Given the description of an element on the screen output the (x, y) to click on. 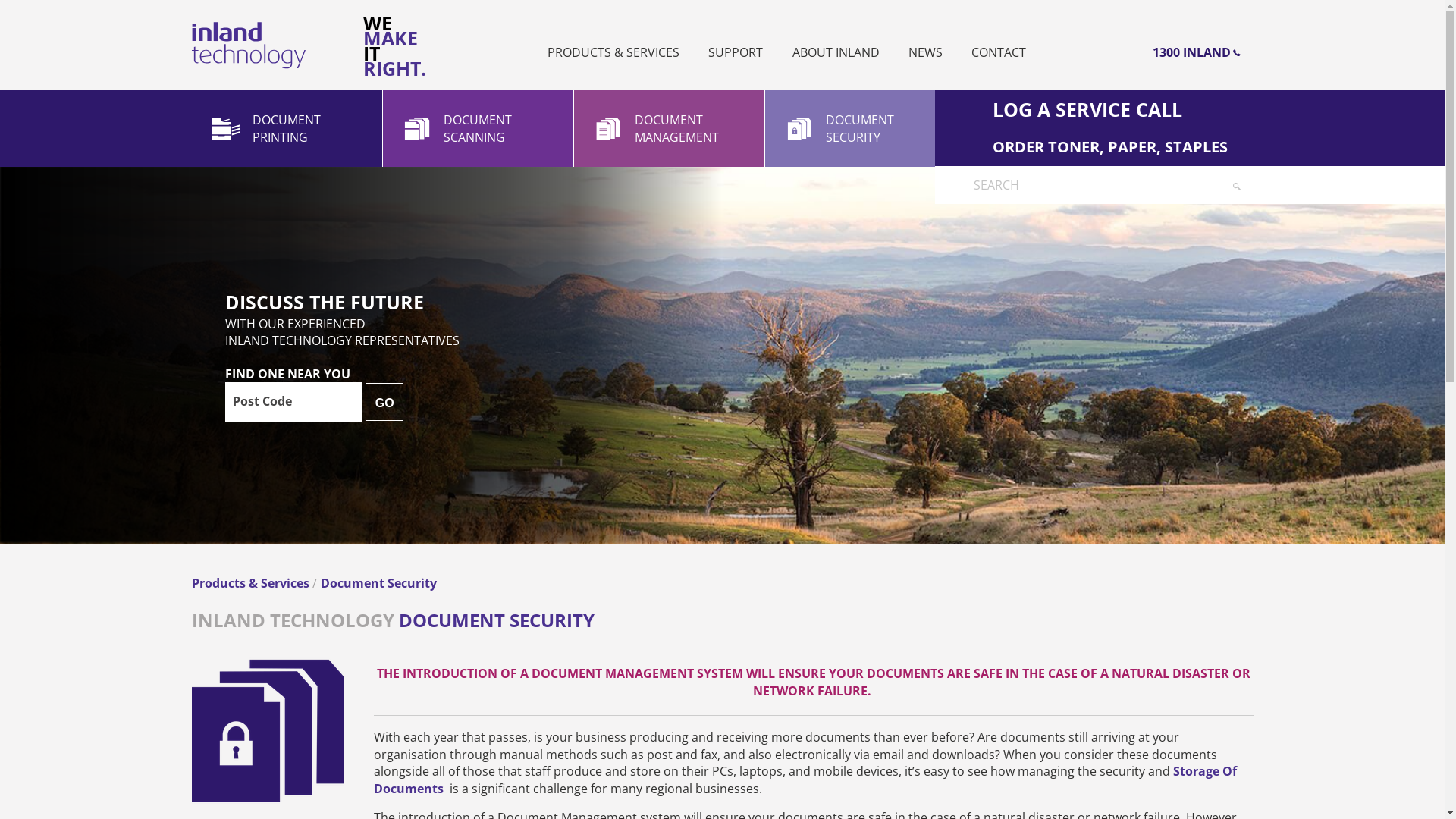
Document Security Element type: text (378, 582)
Products & Services Element type: text (251, 582)
SUPPORT Element type: text (735, 51)
DOCUMENT MANAGEMENT Element type: text (668, 128)
DOCUMENT SCANNING Element type: text (477, 128)
DOCUMENT SECURITY Element type: text (859, 128)
1300 INLAND Element type: text (1093, 51)
DOCUMENT PRINTING Element type: text (286, 128)
NEWS Element type: text (925, 51)
ABOUT INLAND Element type: text (835, 51)
Storage Of Documents Element type: text (804, 779)
CONTACT Element type: text (998, 51)
GO Element type: text (384, 401)
WE MAKE IT RIGHT. Element type: text (386, 45)
PRODUCTS & SERVICES Element type: text (613, 51)
